Given the description of an element on the screen output the (x, y) to click on. 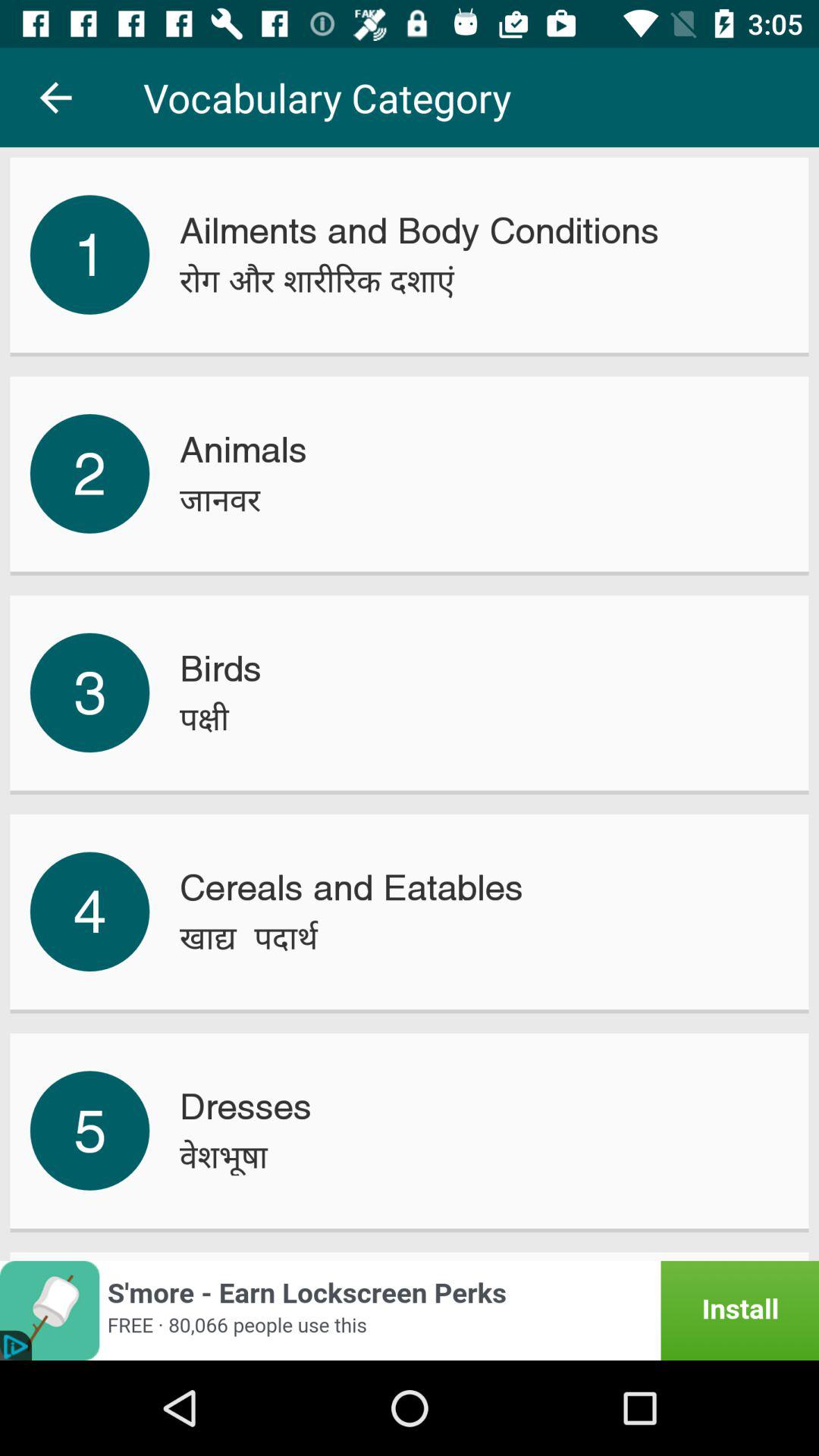
turn on icon above the dresses item (248, 937)
